Given the description of an element on the screen output the (x, y) to click on. 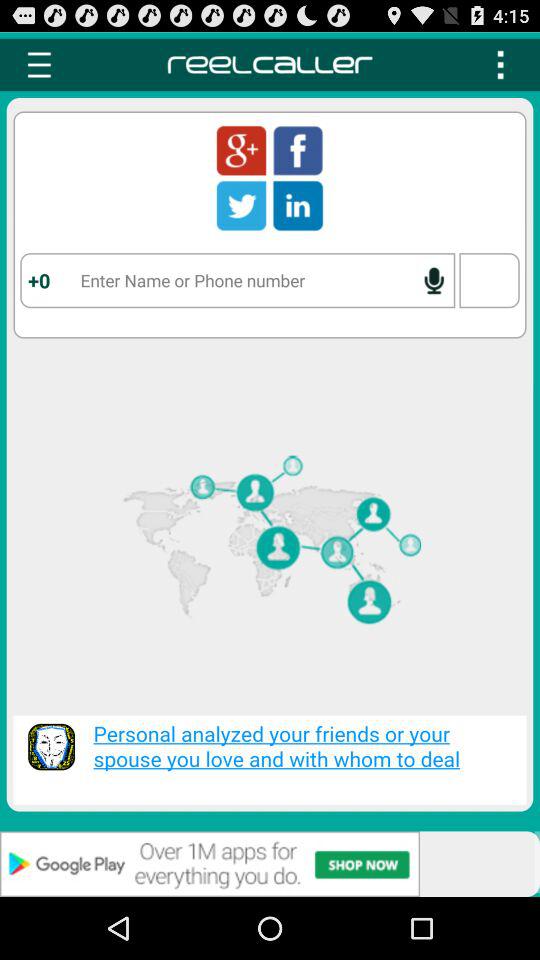
click to view advertisements options (270, 864)
